Given the description of an element on the screen output the (x, y) to click on. 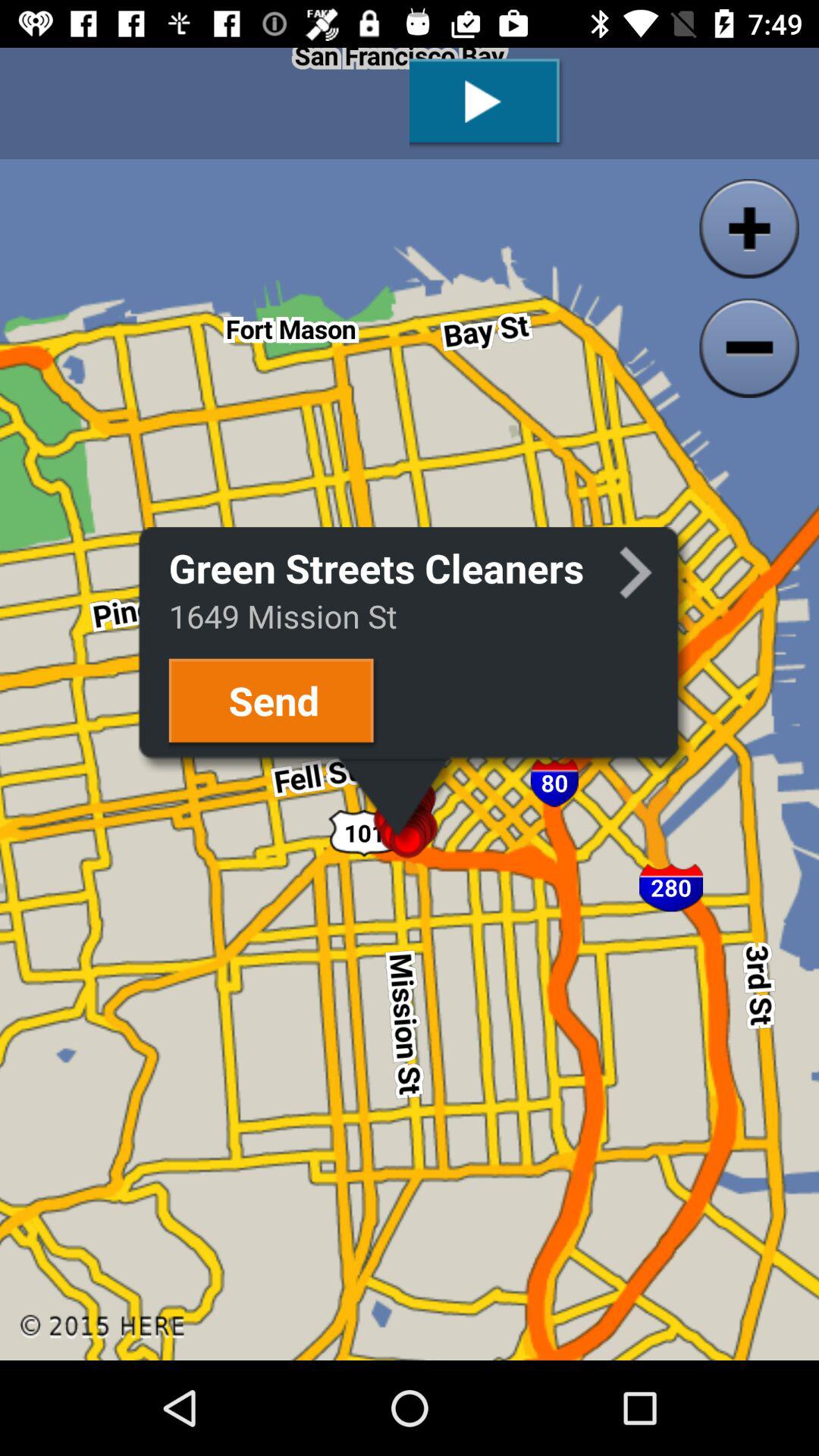
click send icon (273, 703)
